Given the description of an element on the screen output the (x, y) to click on. 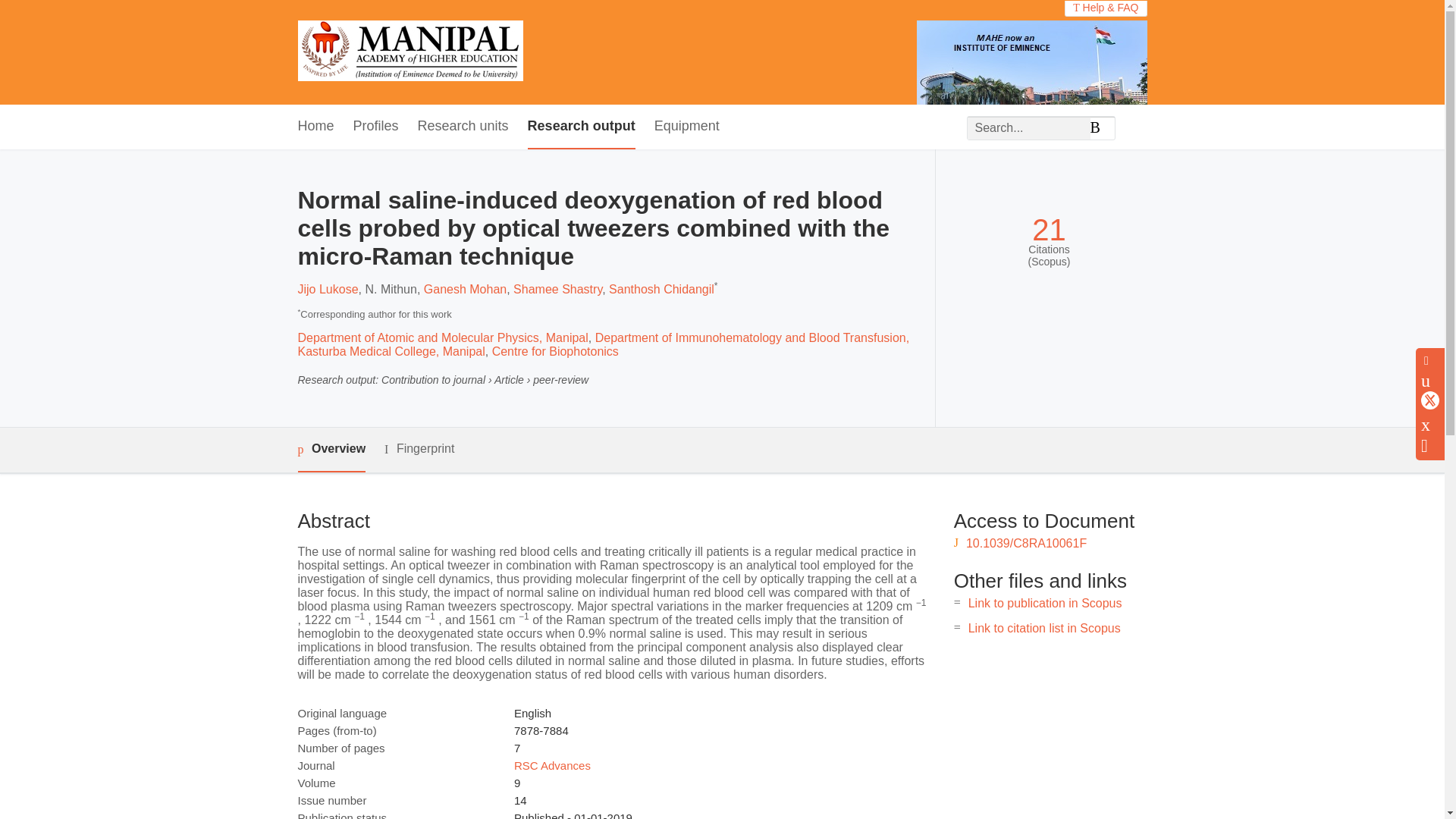
Ganesh Mohan (464, 288)
Jijo Lukose (327, 288)
Research units (462, 126)
RSC Advances (552, 765)
Santhosh Chidangil (661, 288)
Shamee Shastry (557, 288)
Centre for Biophotonics (555, 350)
Equipment (686, 126)
Manipal Academy of Higher Education, Manipal, India Home (409, 52)
Fingerprint (419, 448)
